Given the description of an element on the screen output the (x, y) to click on. 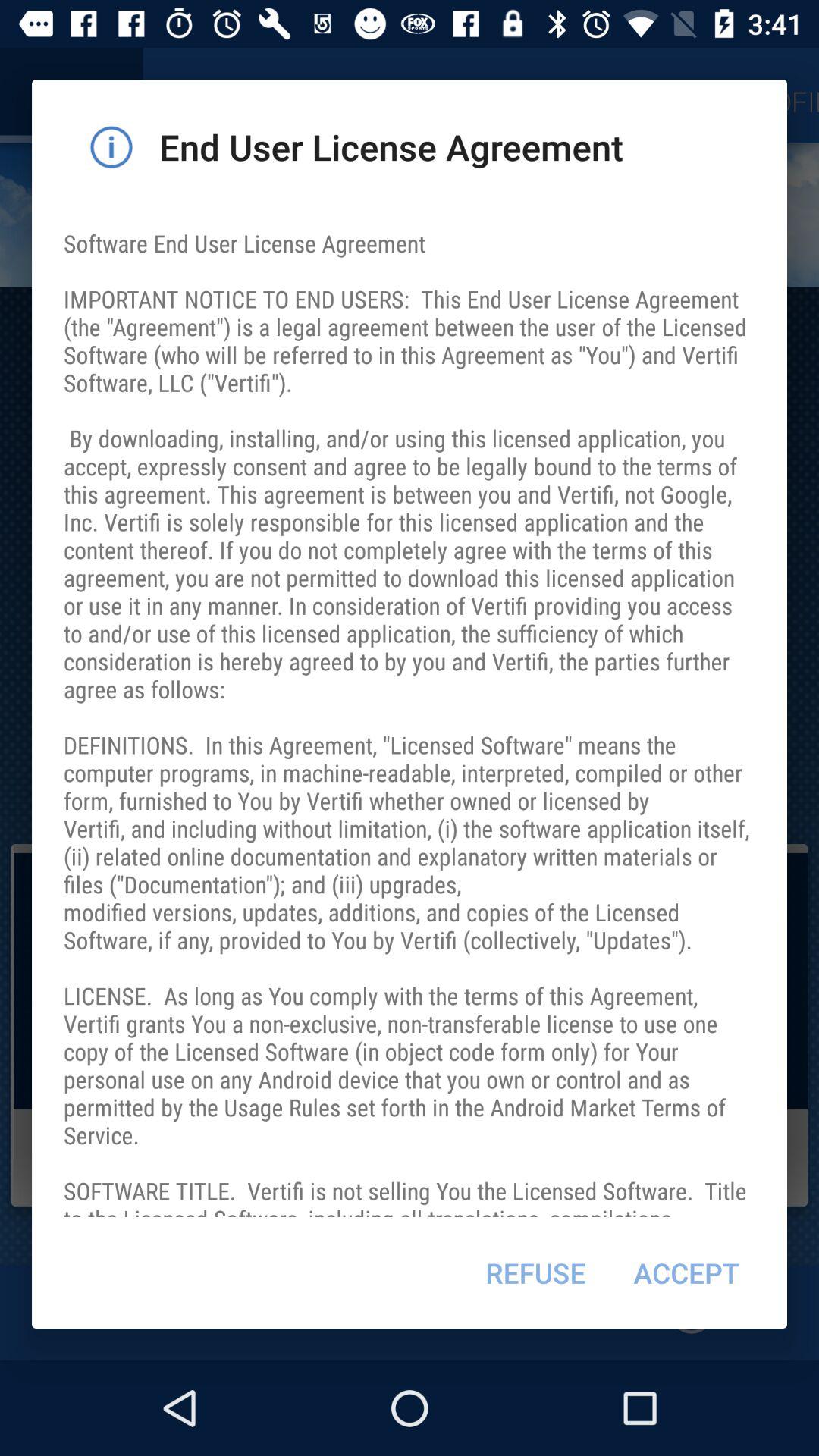
flip to accept (686, 1272)
